Given the description of an element on the screen output the (x, y) to click on. 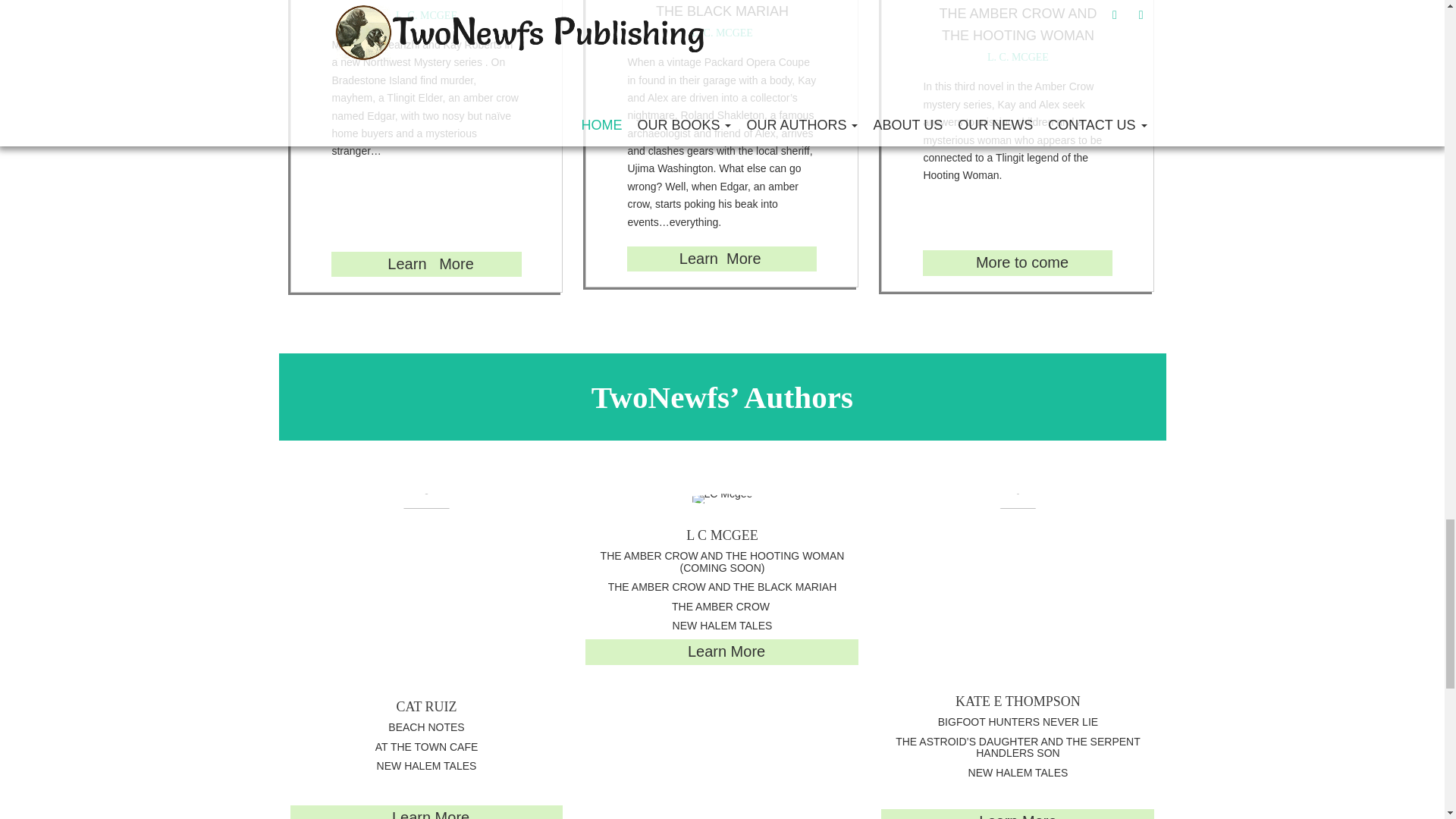
Learn More (1017, 816)
Learn More (427, 814)
 Learn  More (717, 258)
Learn   More (430, 263)
Learn More (723, 651)
